Given the description of an element on the screen output the (x, y) to click on. 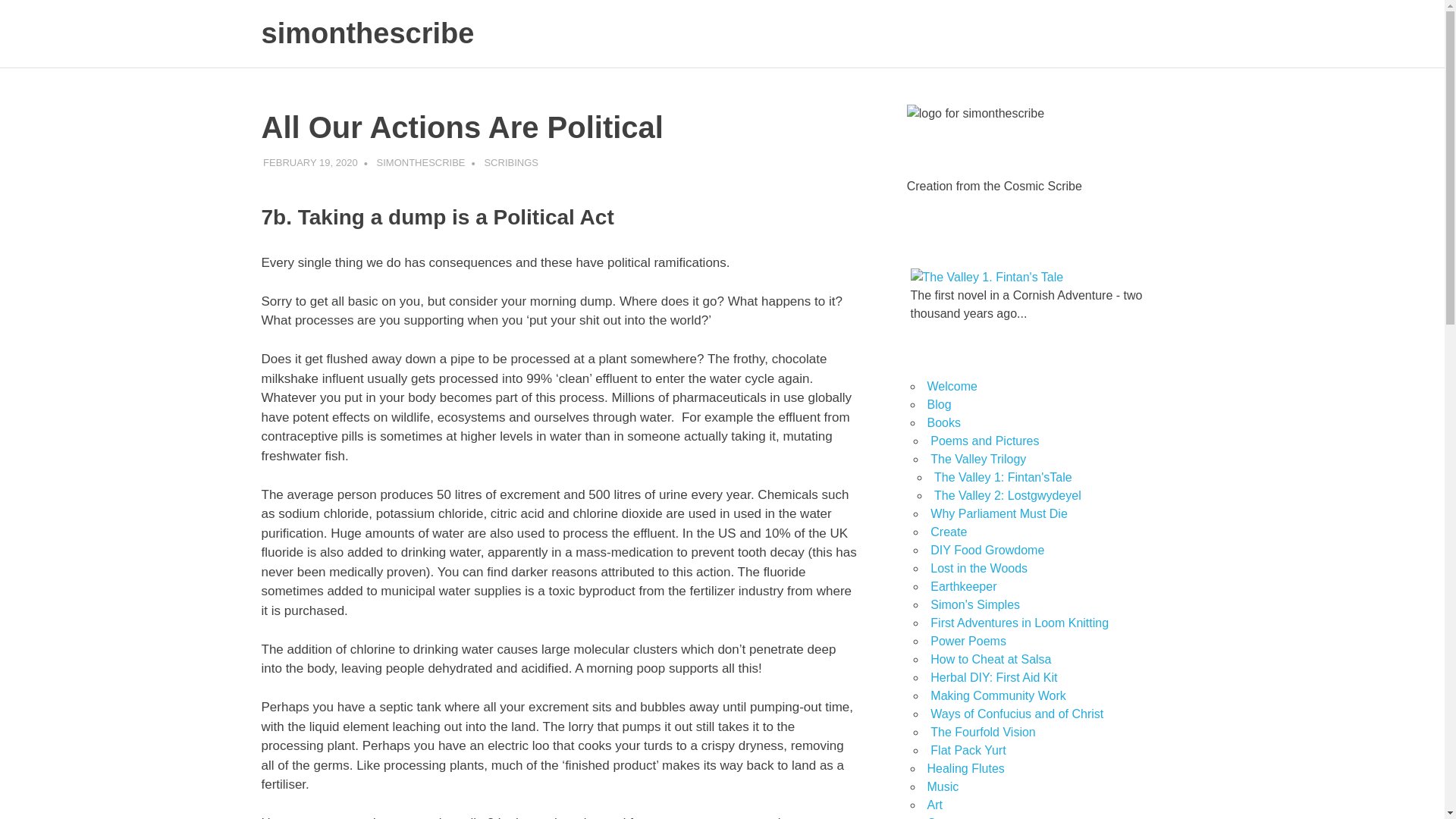
Blog (938, 404)
Books (942, 422)
Why Parliament Must Die (998, 513)
View all posts by simonthescribe (421, 161)
FEBRUARY 19, 2020 (310, 161)
simonthescribe (367, 33)
Create (948, 531)
SCRIBINGS (510, 161)
The Valley 2: Lostgwydeyel (1007, 495)
9:45 am (310, 161)
The Valley 1: Fintan'sTale (1002, 477)
Poems and Pictures (984, 440)
DIY Food Growdome (986, 549)
Valley1280 (986, 277)
Welcome (951, 386)
